Given the description of an element on the screen output the (x, y) to click on. 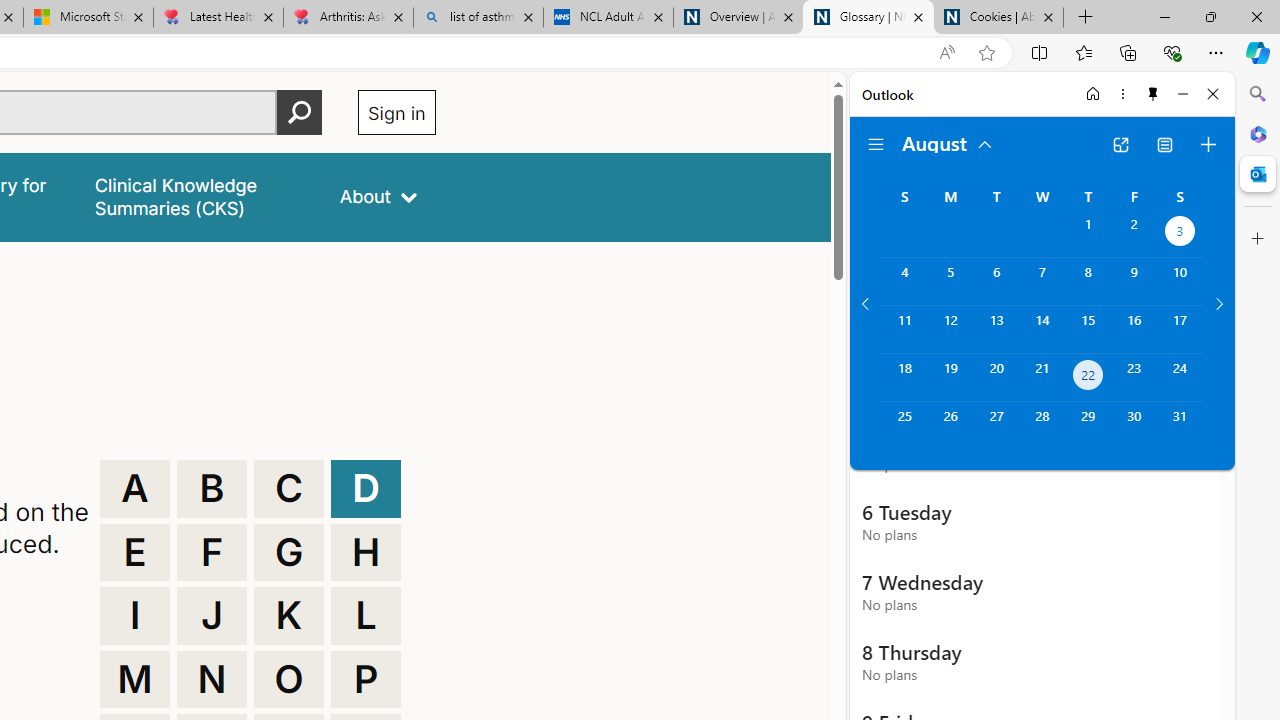
Tuesday, August 20, 2024.  (996, 377)
Saturday, August 24, 2024.  (1180, 377)
M (134, 679)
About (378, 196)
Friday, August 23, 2024.  (1134, 377)
View Switcher. Current view is Agenda view (1165, 144)
Saturday, August 17, 2024.  (1180, 329)
Split screen (1039, 52)
Wednesday, August 28, 2024.  (1042, 425)
NCL Adult Asthma Inhaler Choice Guideline (608, 17)
Sunday, August 11, 2024.  (904, 329)
L (365, 615)
Sunday, August 4, 2024.  (904, 281)
false (198, 196)
